Given the description of an element on the screen output the (x, y) to click on. 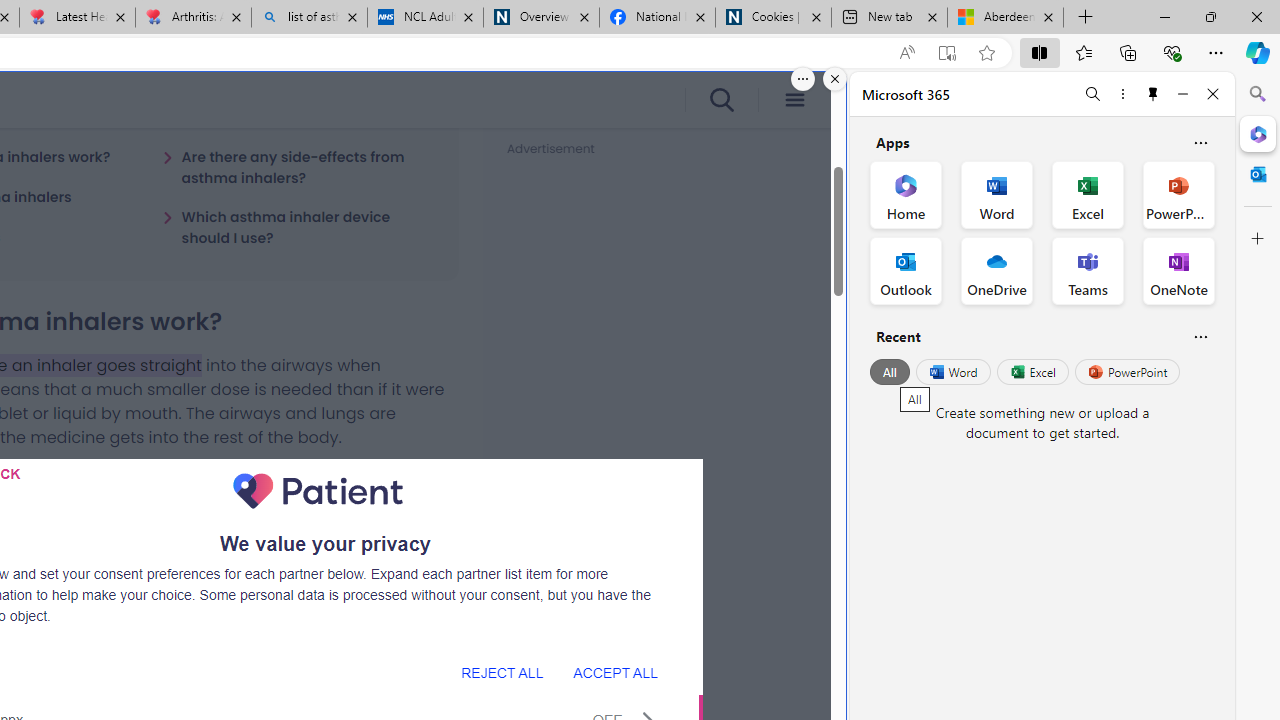
Word (952, 372)
Excel Office App (1087, 194)
Are there any side-effects from asthma inhalers? (298, 167)
menu icon (793, 99)
PowerPoint Office App (1178, 194)
OneNote Office App (1178, 270)
More options. (803, 79)
Unpin side pane (1153, 93)
Word Office App (996, 194)
Excel (1031, 372)
